Given the description of an element on the screen output the (x, y) to click on. 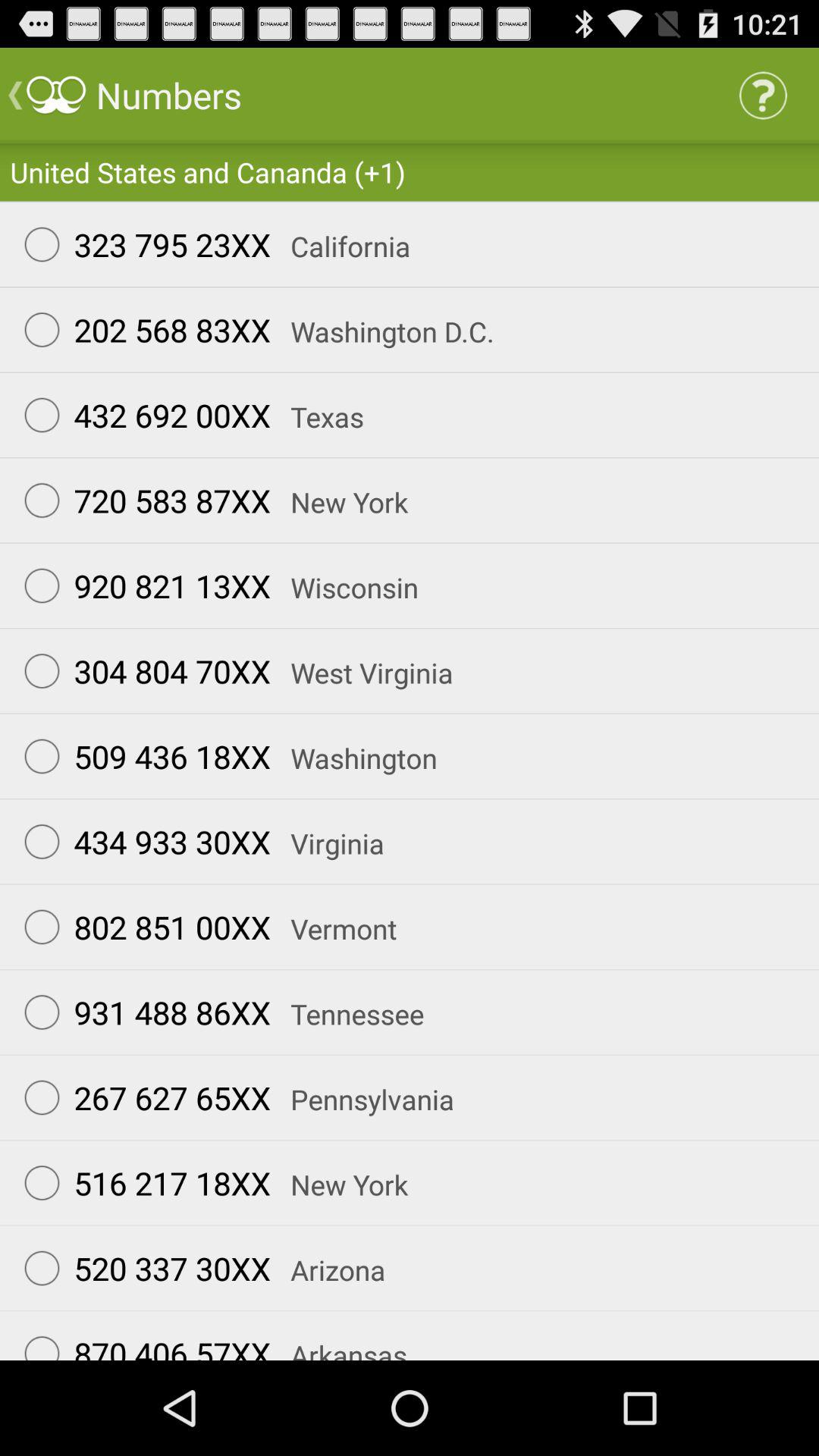
turn on the item below 720 583 87xx icon (344, 587)
